Given the description of an element on the screen output the (x, y) to click on. 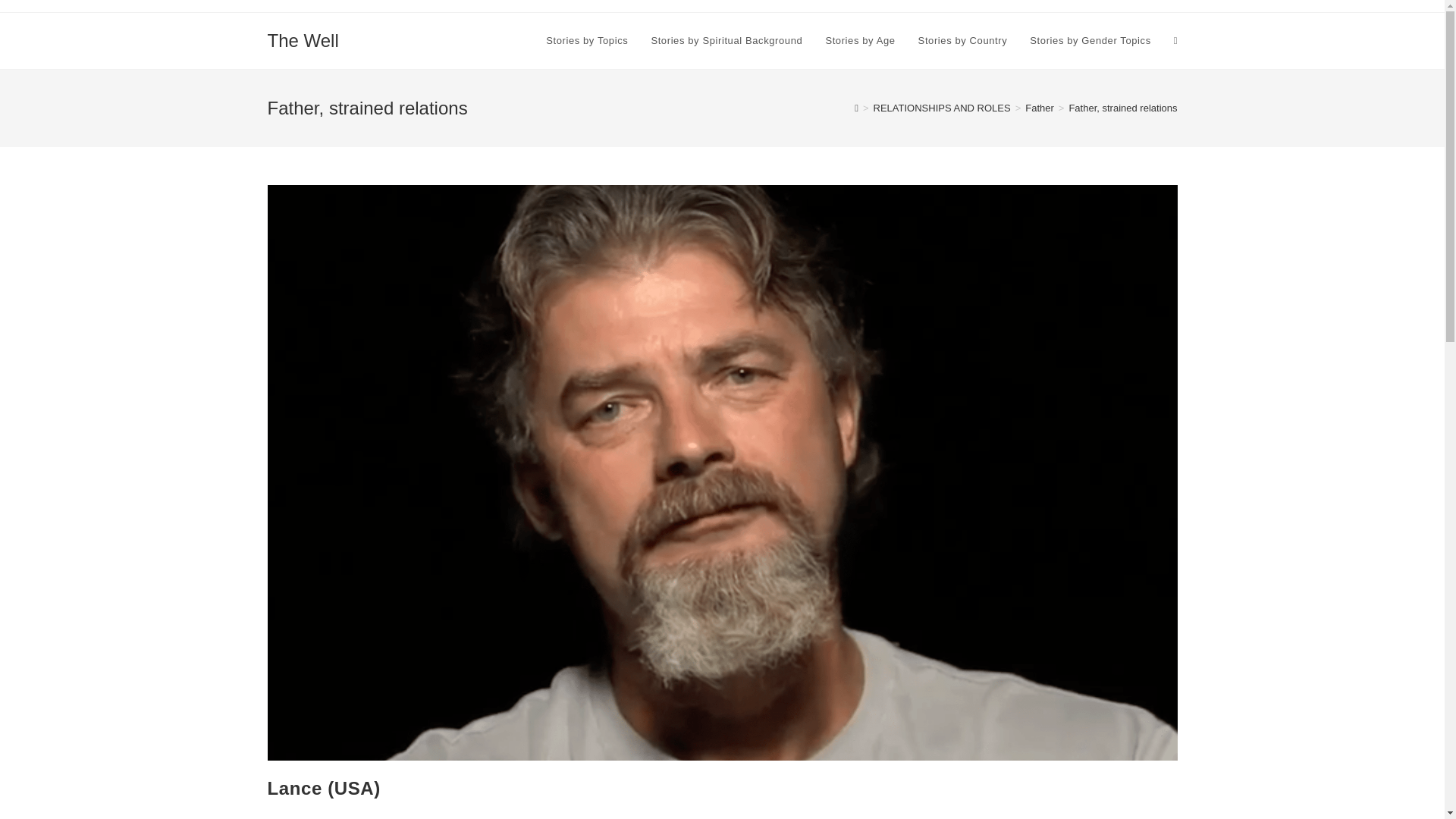
Father (1039, 107)
Stories by Age (859, 40)
Stories by Spiritual Background (726, 40)
Stories by Country (963, 40)
Stories by Gender Topics (1089, 40)
Stories by Topics (586, 40)
RELATIONSHIPS AND ROLES (941, 107)
Father, strained relations (1122, 107)
The Well (301, 40)
